Given the description of an element on the screen output the (x, y) to click on. 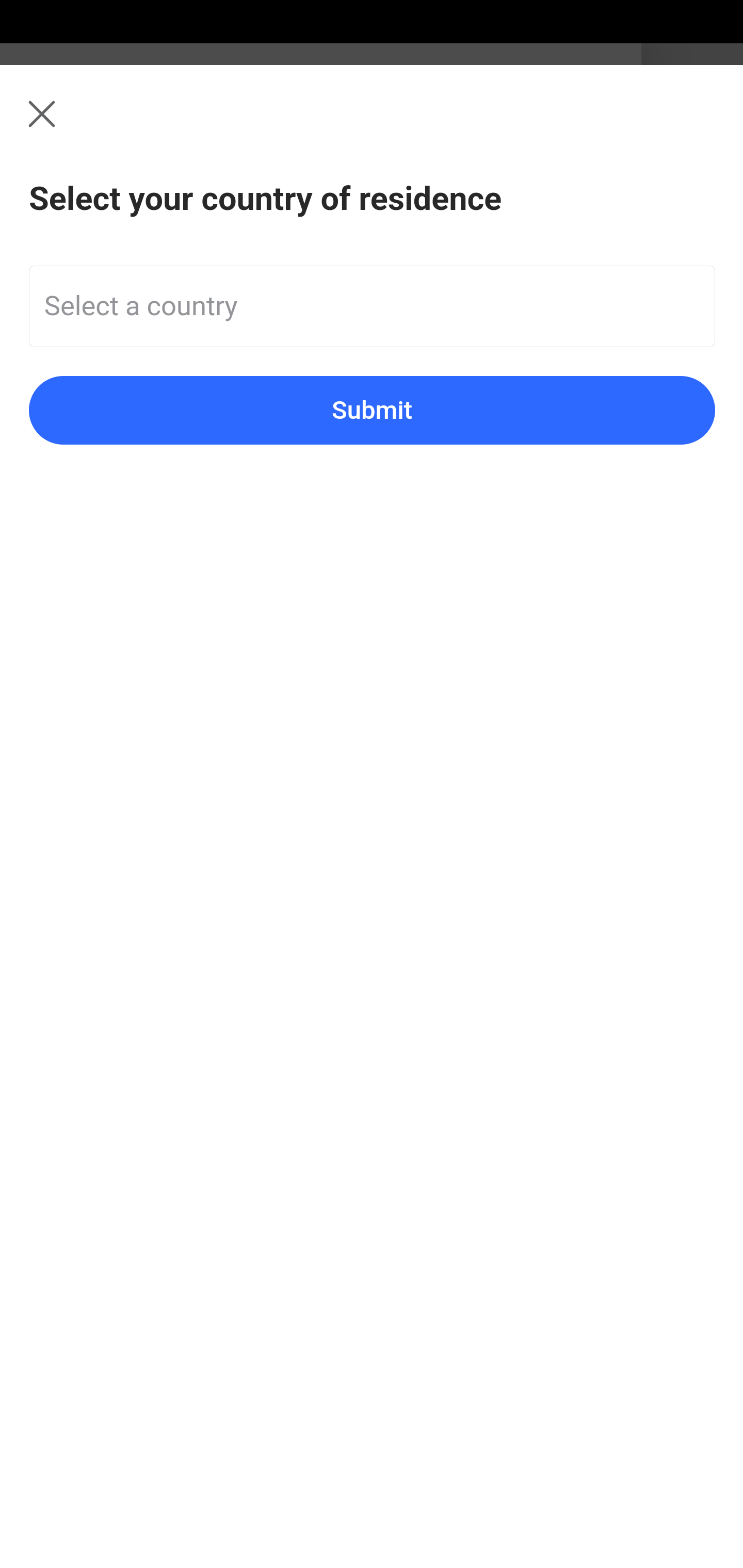
Me (64, 125)
